Given the description of an element on the screen output the (x, y) to click on. 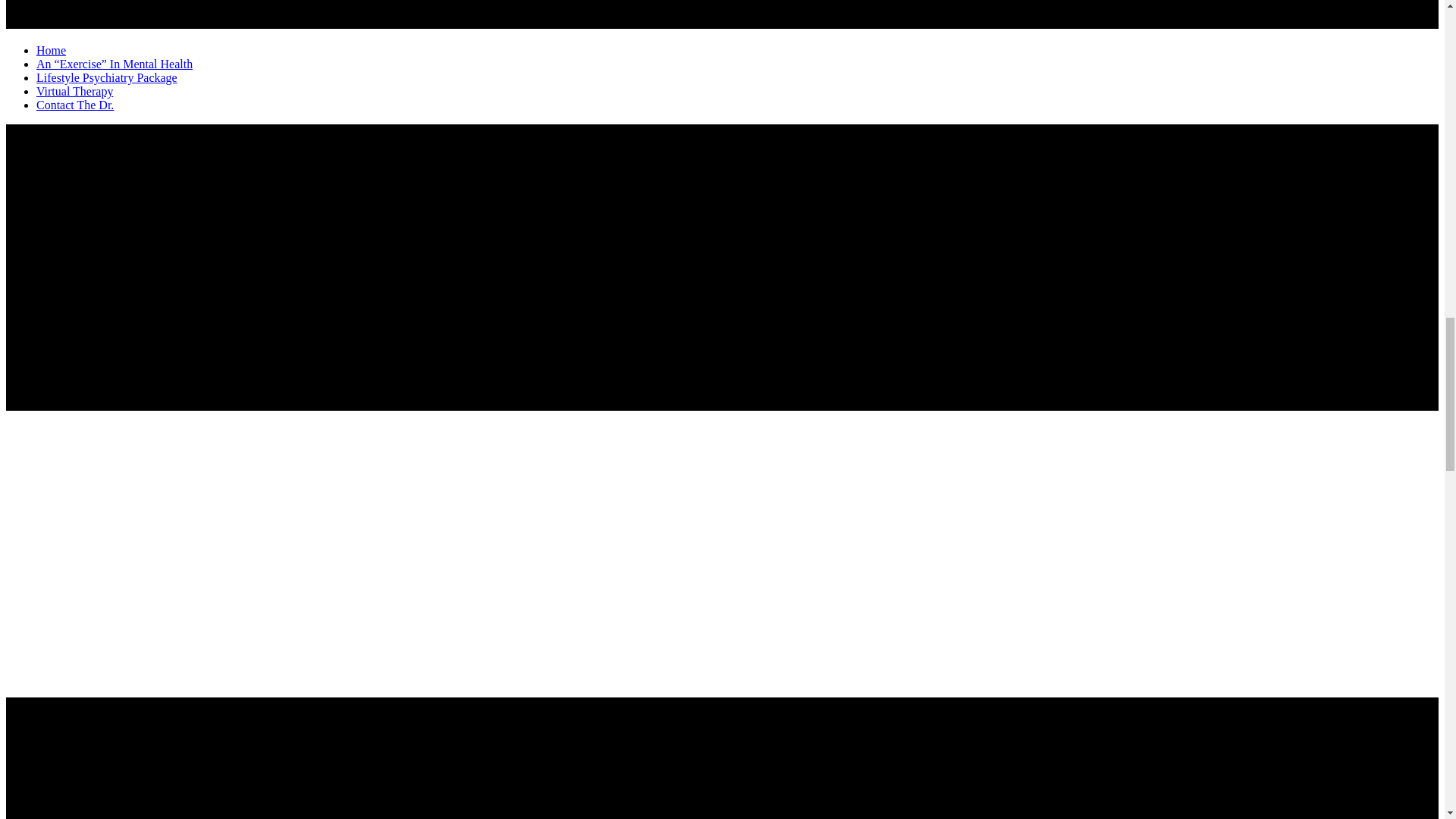
Contact The Dr. (74, 105)
Home (50, 50)
Lifestyle Psychiatry Package (106, 78)
Virtual Therapy (74, 91)
